Given the description of an element on the screen output the (x, y) to click on. 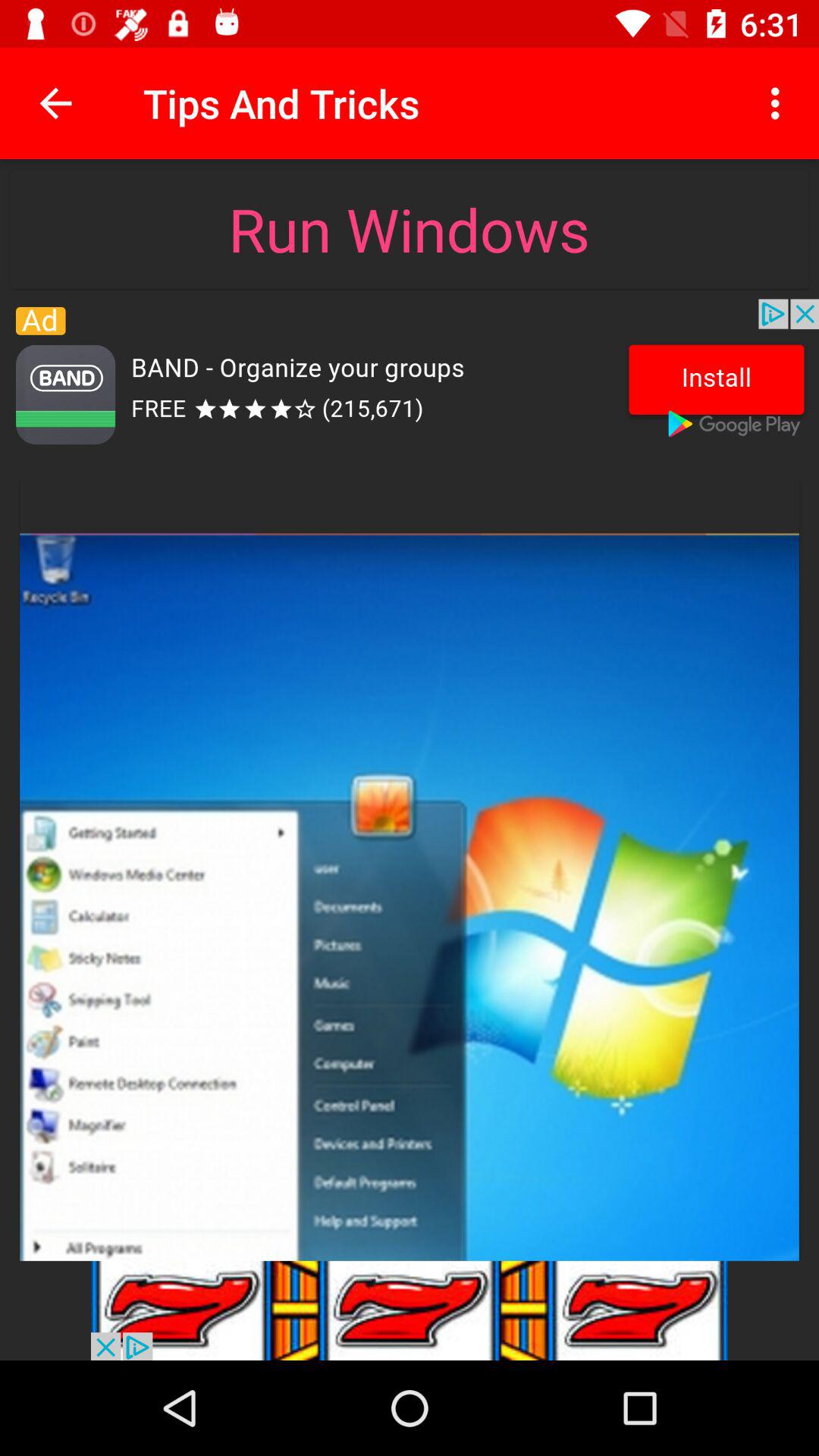
announcement (409, 1310)
